Given the description of an element on the screen output the (x, y) to click on. 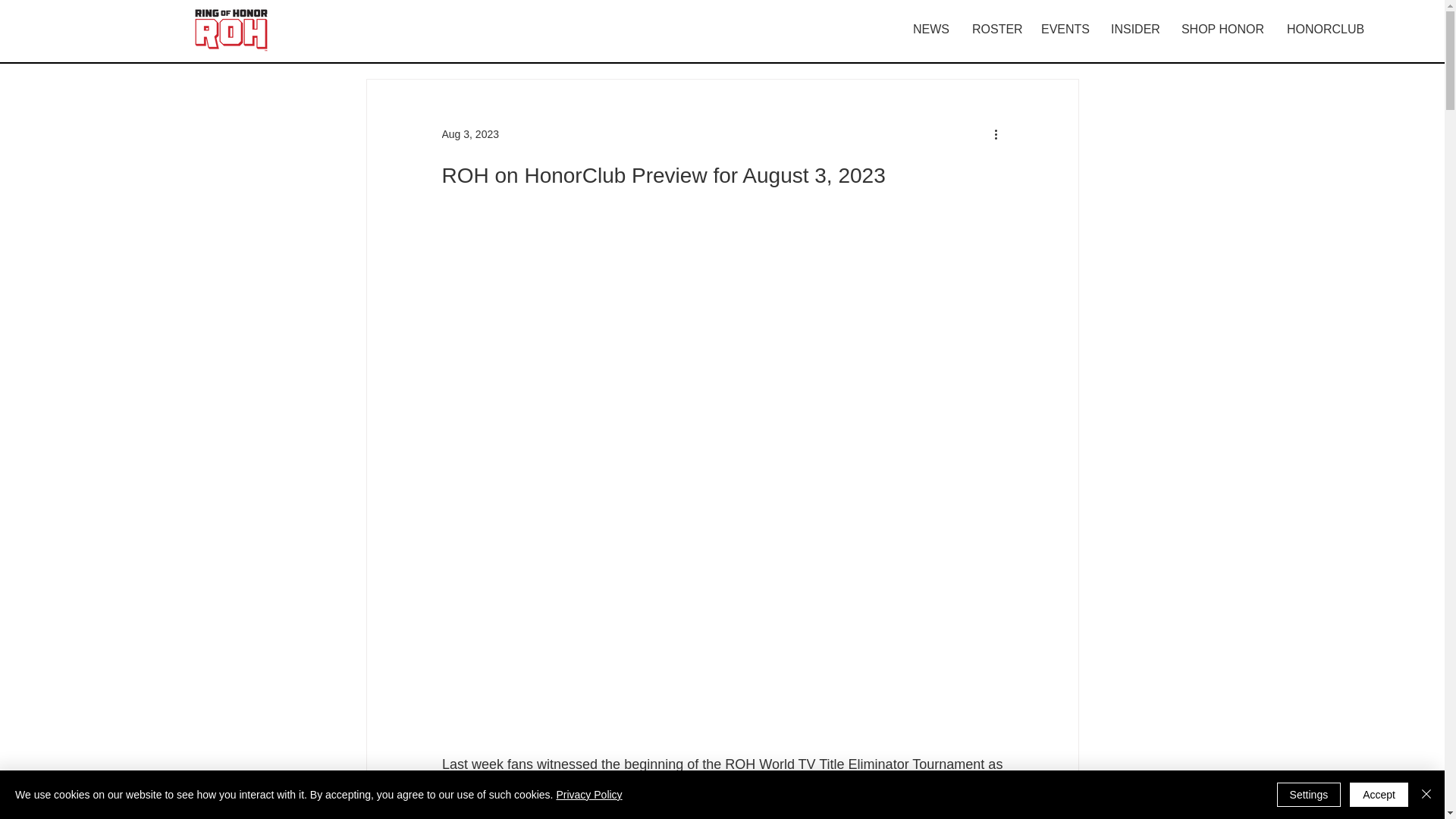
Aug 3, 2023 (470, 133)
NEWS (930, 29)
INSIDER (1134, 29)
Privacy Policy (588, 794)
EVENTS (1064, 29)
Honor Club, (810, 818)
HONORCLUB (1325, 29)
Settings (1308, 794)
Accept (1378, 794)
SHOP HONOR (1222, 29)
ROSTER (994, 29)
Accessibility Menu (1422, 792)
